Given the description of an element on the screen output the (x, y) to click on. 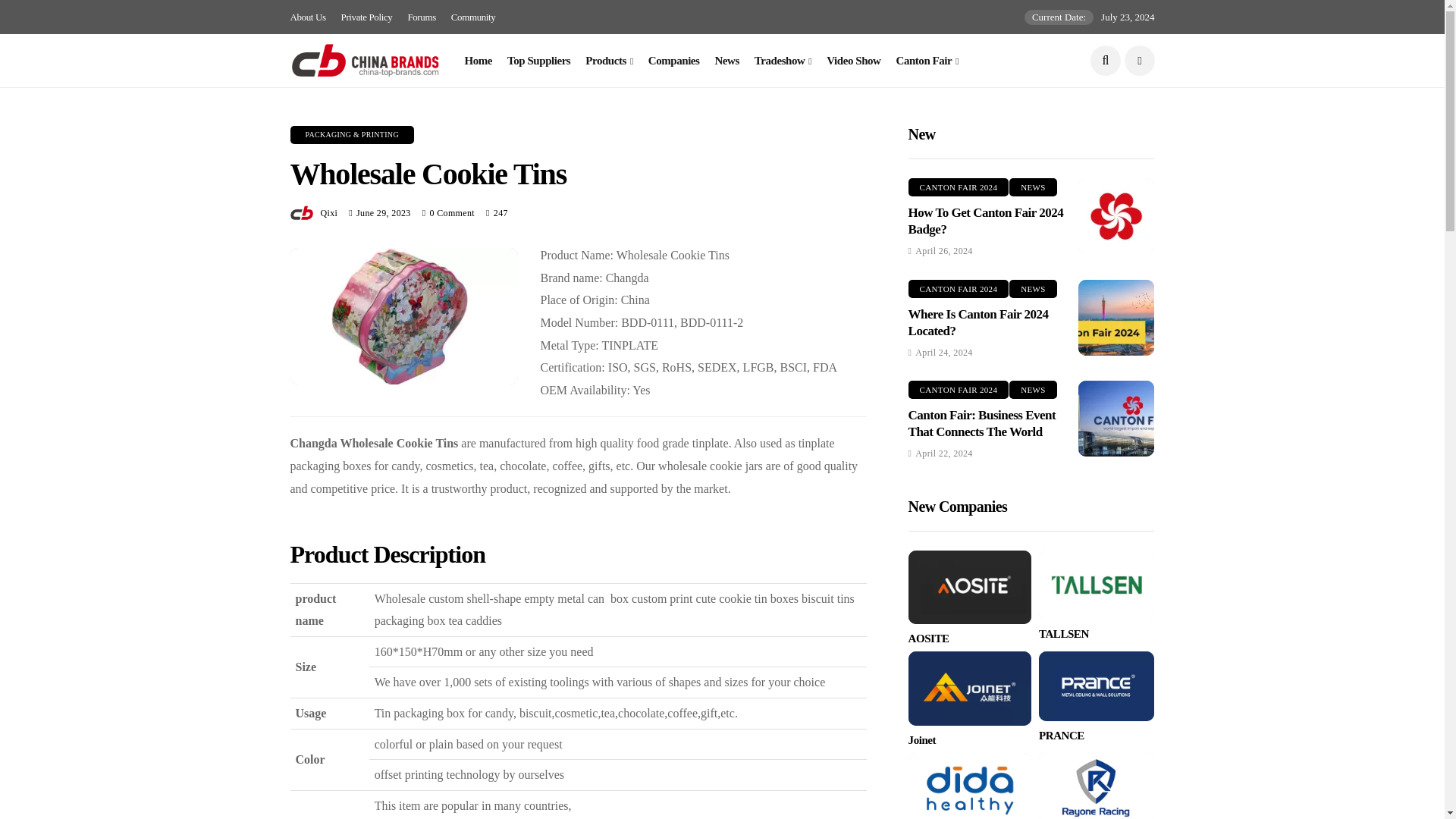
Tradeshow (782, 60)
Community (473, 17)
Video Show (853, 60)
Top Suppliers (538, 60)
How to Get Canton Fair 2024 Badge? (1116, 215)
Products (609, 60)
Companies (673, 60)
Canton Fair: business event that connects the world (1116, 418)
PRANCE (1096, 685)
Canton Fair (927, 60)
Joinet (969, 687)
Posts by Qixi (328, 213)
Private Policy (366, 17)
TALLSEN (1096, 584)
Where is Canton Fair 2024 located? (1116, 317)
